Given the description of an element on the screen output the (x, y) to click on. 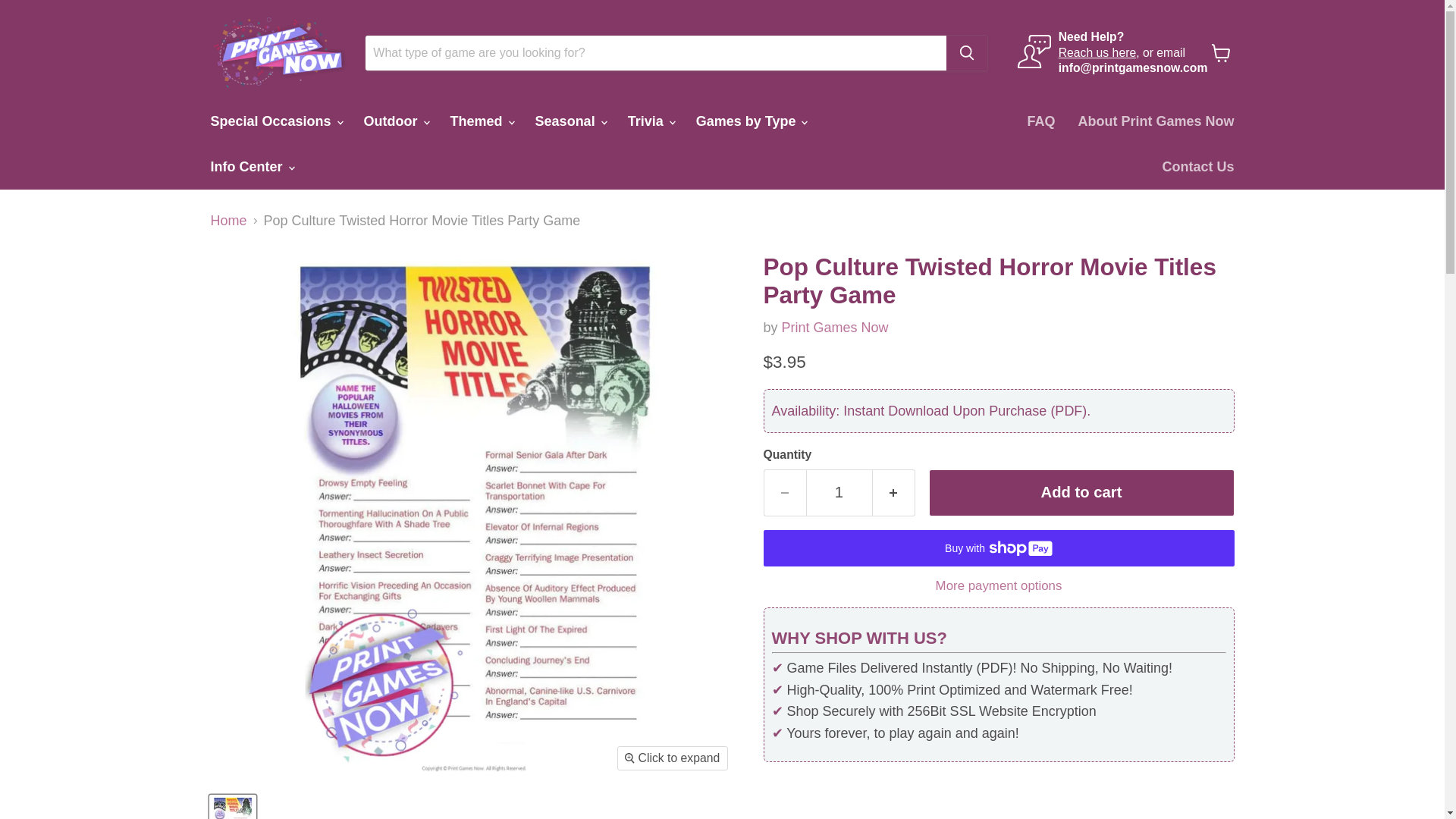
Reach us here (1096, 51)
View cart (1221, 52)
Print Games Now (834, 327)
Contact (1096, 51)
1 (838, 492)
Need Help? (1091, 37)
